Given the description of an element on the screen output the (x, y) to click on. 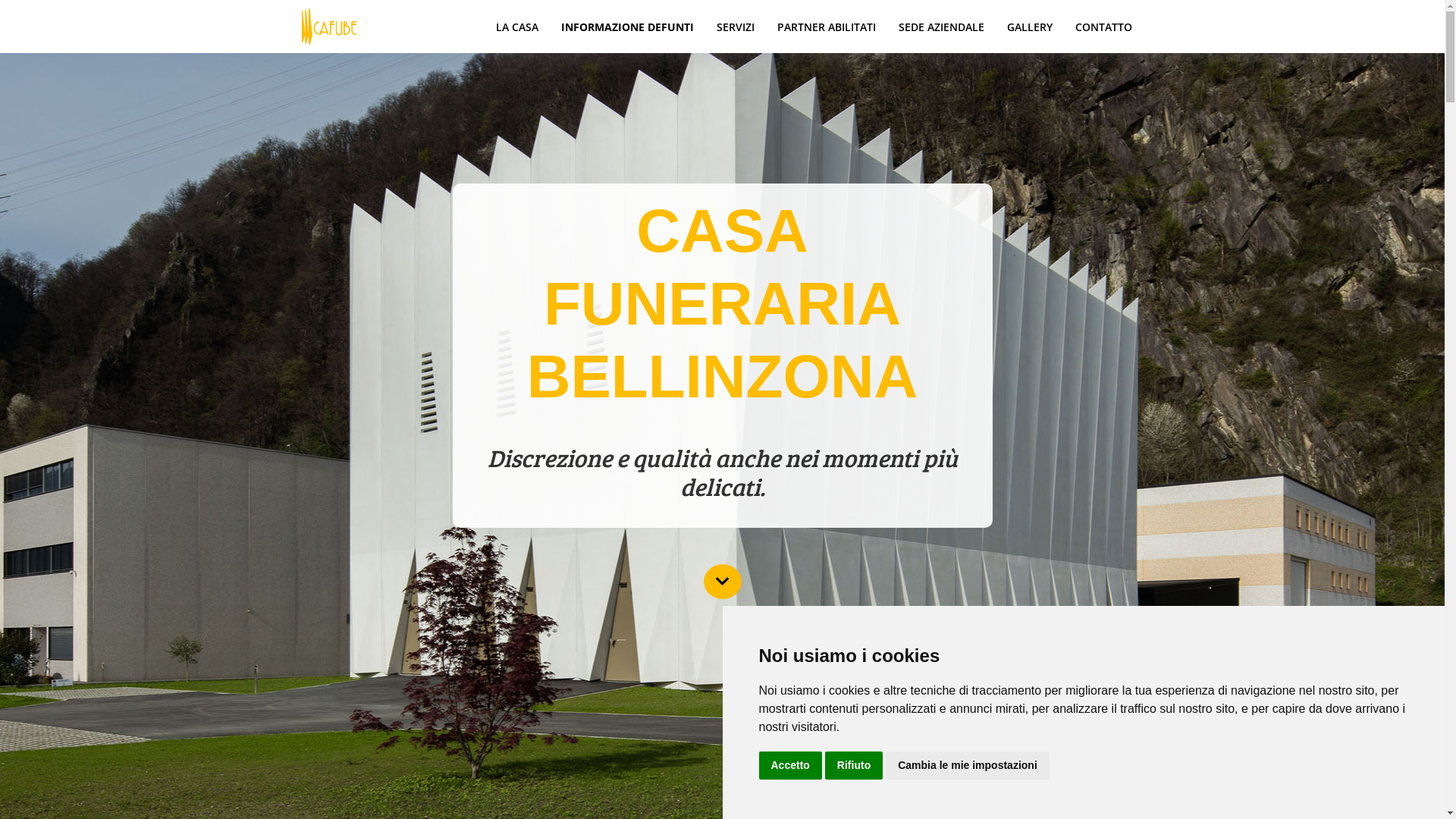
GALLERY Element type: text (1028, 26)
SERVIZI Element type: text (735, 26)
PARTNER ABILITATI Element type: text (826, 26)
Accetto Element type: text (789, 765)
Cambia le mie impostazioni Element type: text (967, 765)
INFORMAZIONE DEFUNTI Element type: text (626, 26)
SEDE AZIENDALE Element type: text (941, 26)
Rifiuto Element type: text (853, 765)
CONTATTO Element type: text (1102, 26)
LA CASA Element type: text (516, 26)
